Given the description of an element on the screen output the (x, y) to click on. 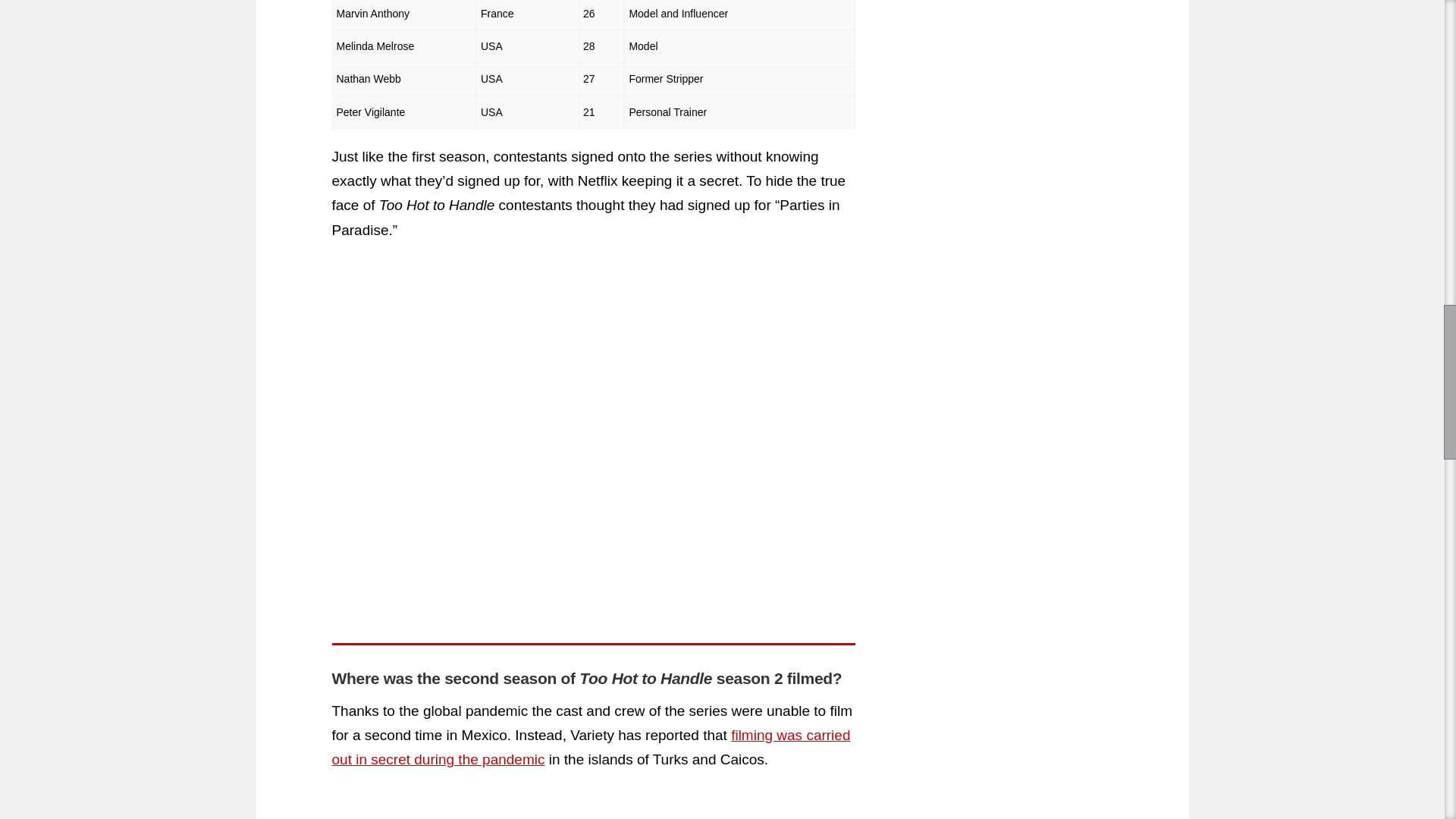
Netflix Too Hot To Handle Season 2 Cast Posters Copy (593, 806)
filming was carried out in secret during the pandemic (590, 747)
